Given the description of an element on the screen output the (x, y) to click on. 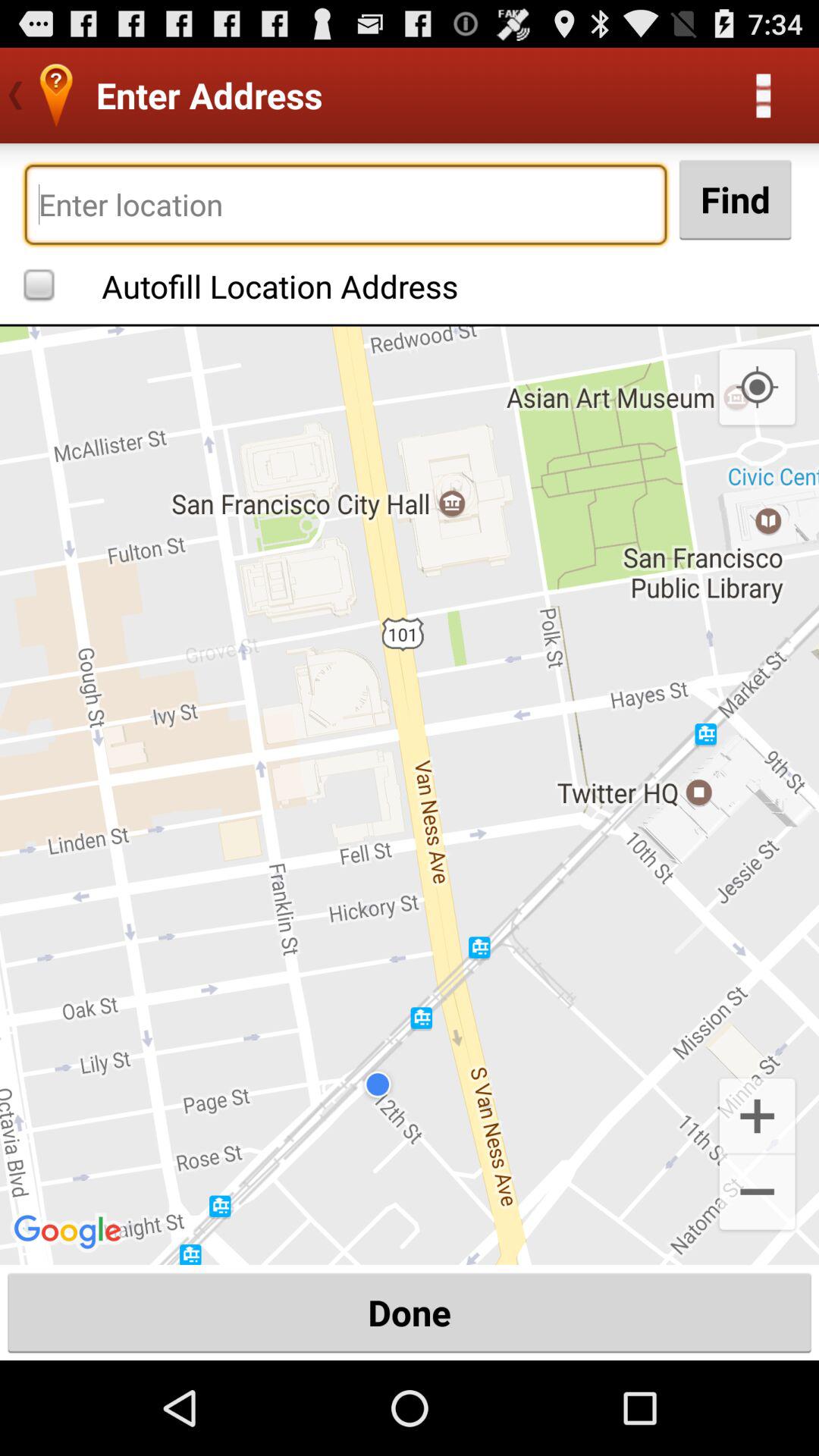
select the autofill location address checkbox (244, 284)
